Given the description of an element on the screen output the (x, y) to click on. 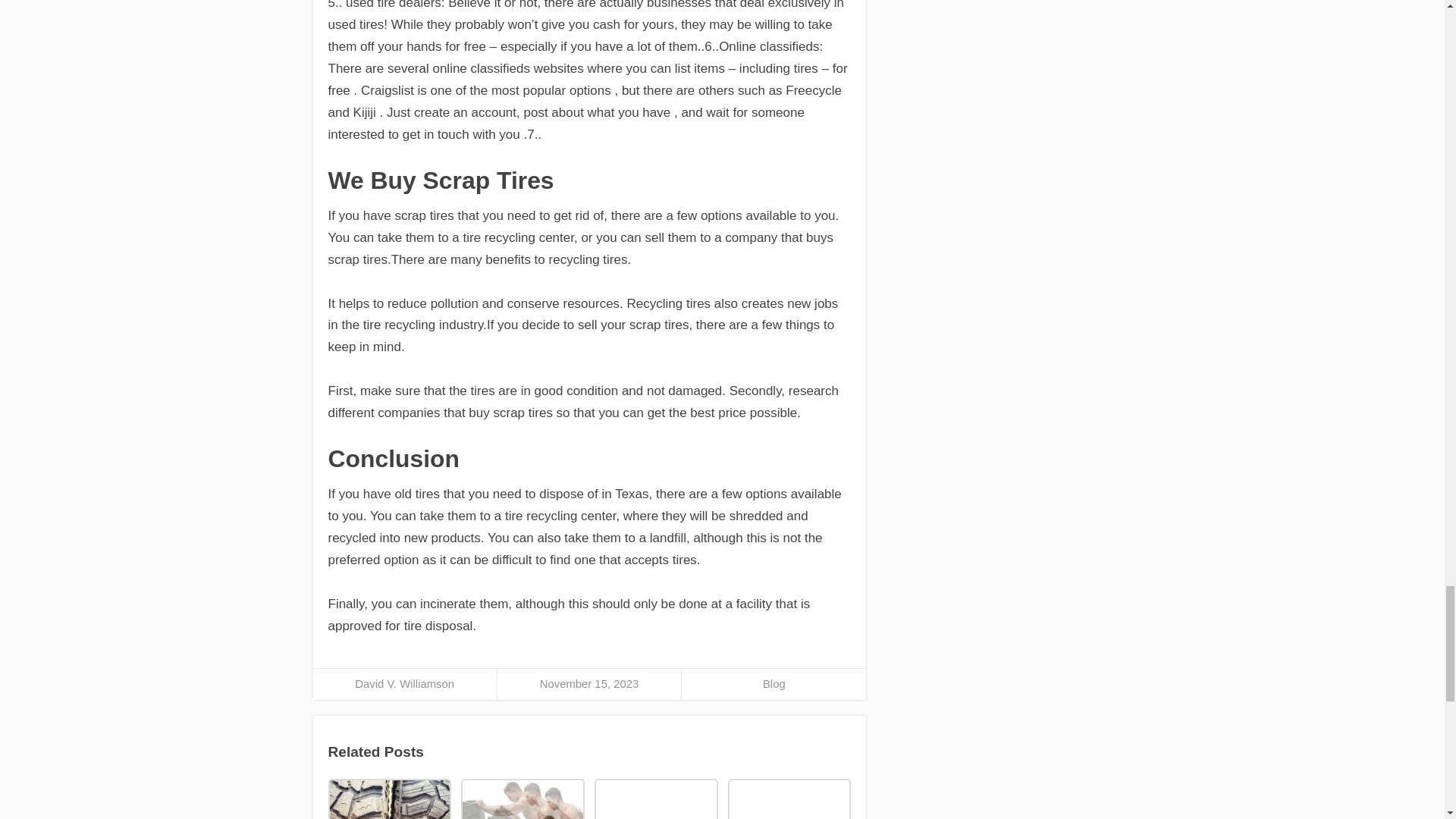
David V. Williamson (404, 684)
How to Flip Tires Exercise (522, 798)
How to Protect Rv Tires (655, 798)
When Can You Put Snow Tires on (789, 798)
How to Sipe Tires at Home (388, 798)
Blog (774, 684)
